Given the description of an element on the screen output the (x, y) to click on. 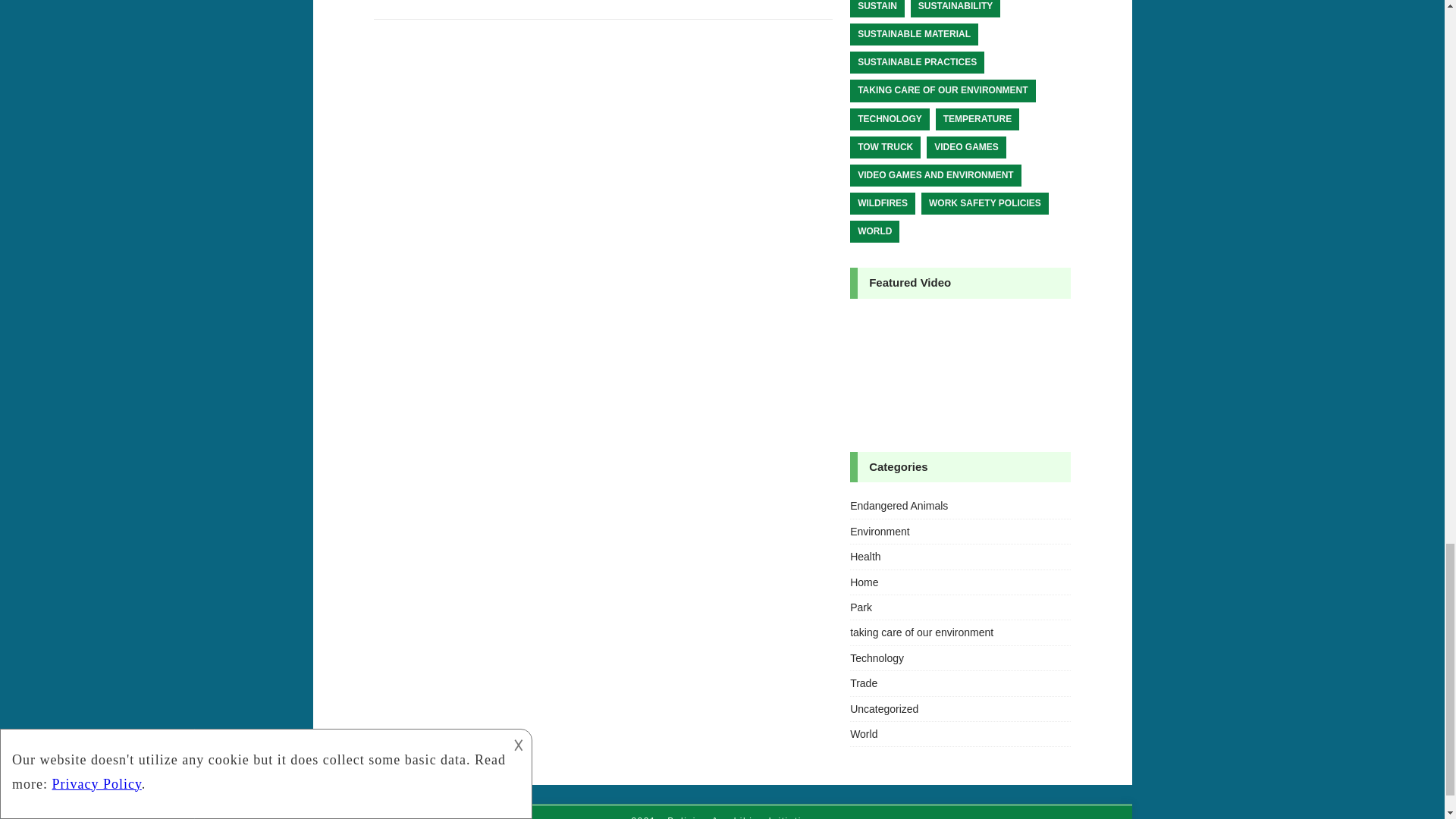
YouTube video player (960, 370)
